Given the description of an element on the screen output the (x, y) to click on. 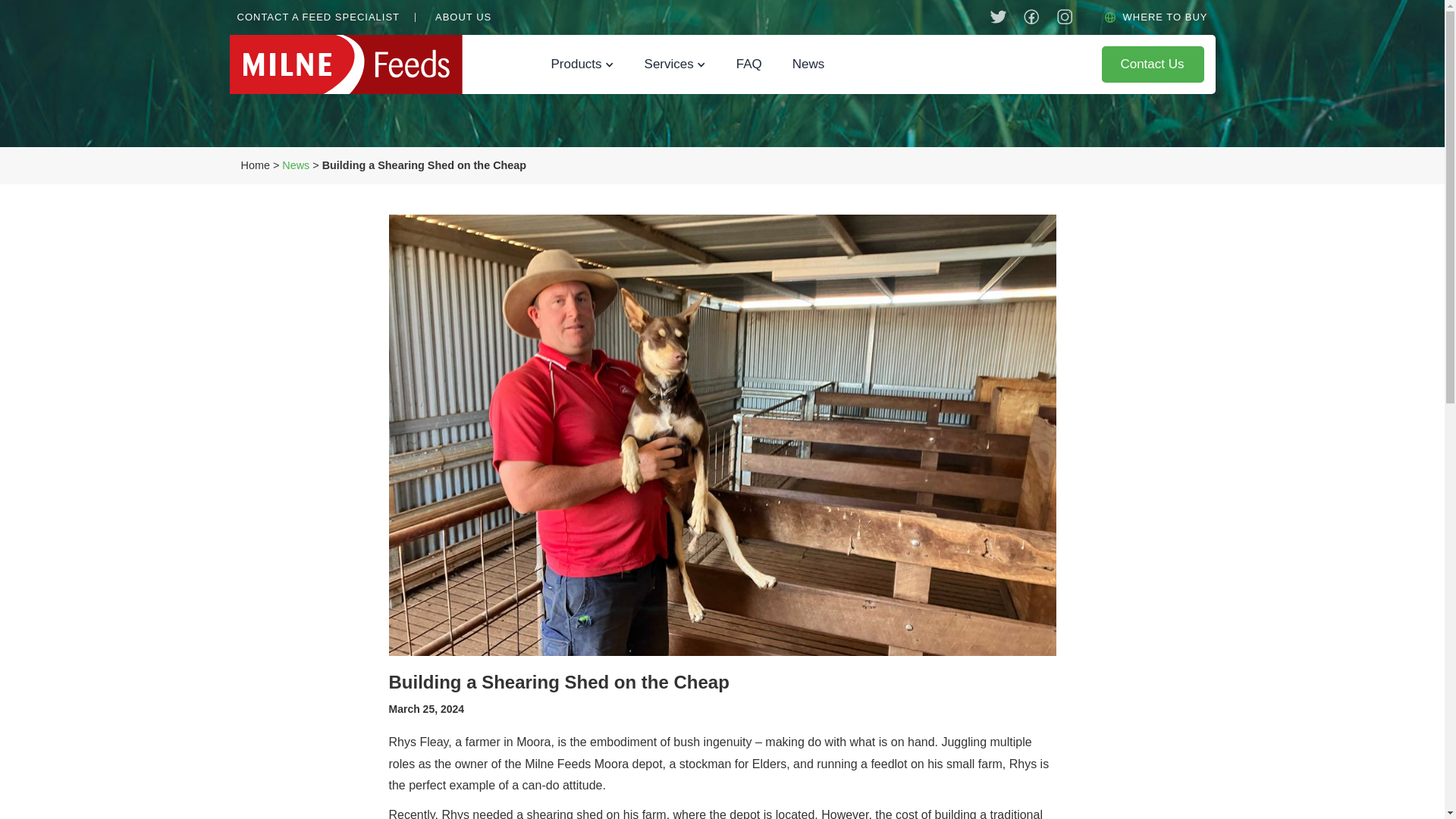
FAQ (748, 64)
WHERE TO BUY (1165, 17)
Contact Us (1153, 63)
CONTACT A FEED SPECIALIST (316, 17)
News (808, 64)
News (295, 164)
